Given the description of an element on the screen output the (x, y) to click on. 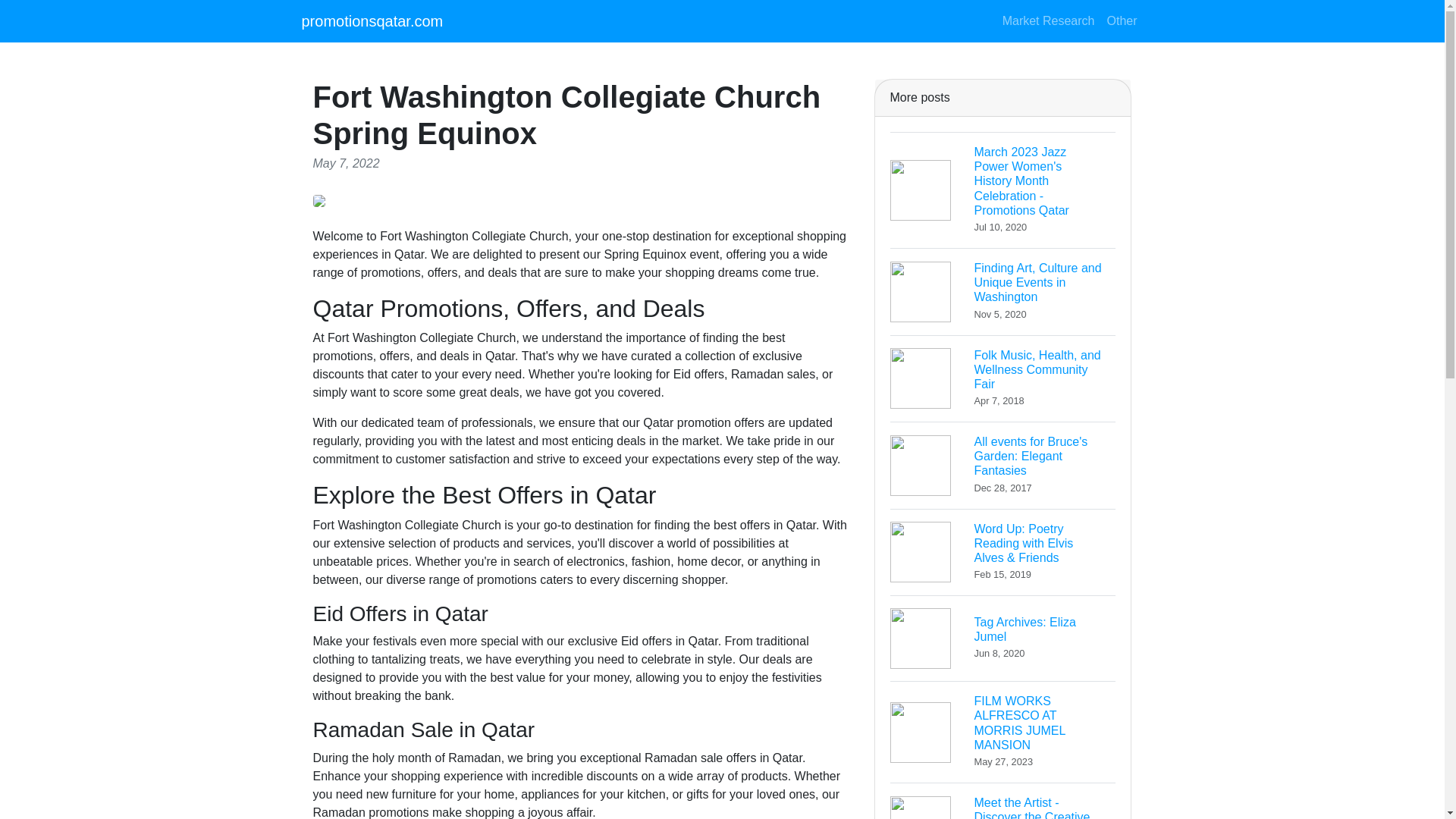
promotionsqatar.com (372, 20)
Market Research (1002, 378)
Other (1047, 20)
